Given the description of an element on the screen output the (x, y) to click on. 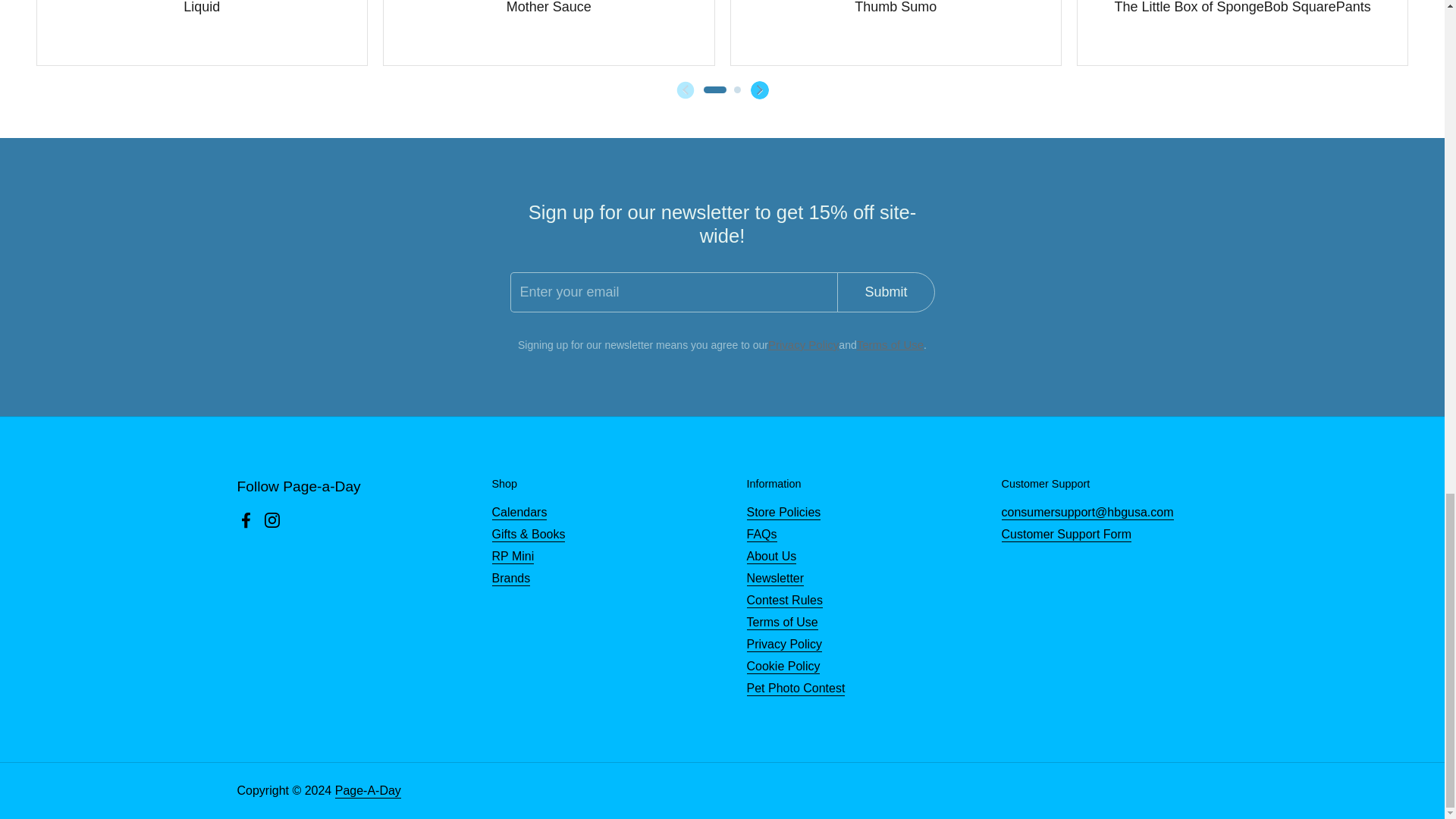
Liquid (201, 4)
The Little Box of SpongeBob SquarePants (1243, 4)
Thumb Sumo (895, 4)
Mother Sauce (548, 4)
